Given the description of an element on the screen output the (x, y) to click on. 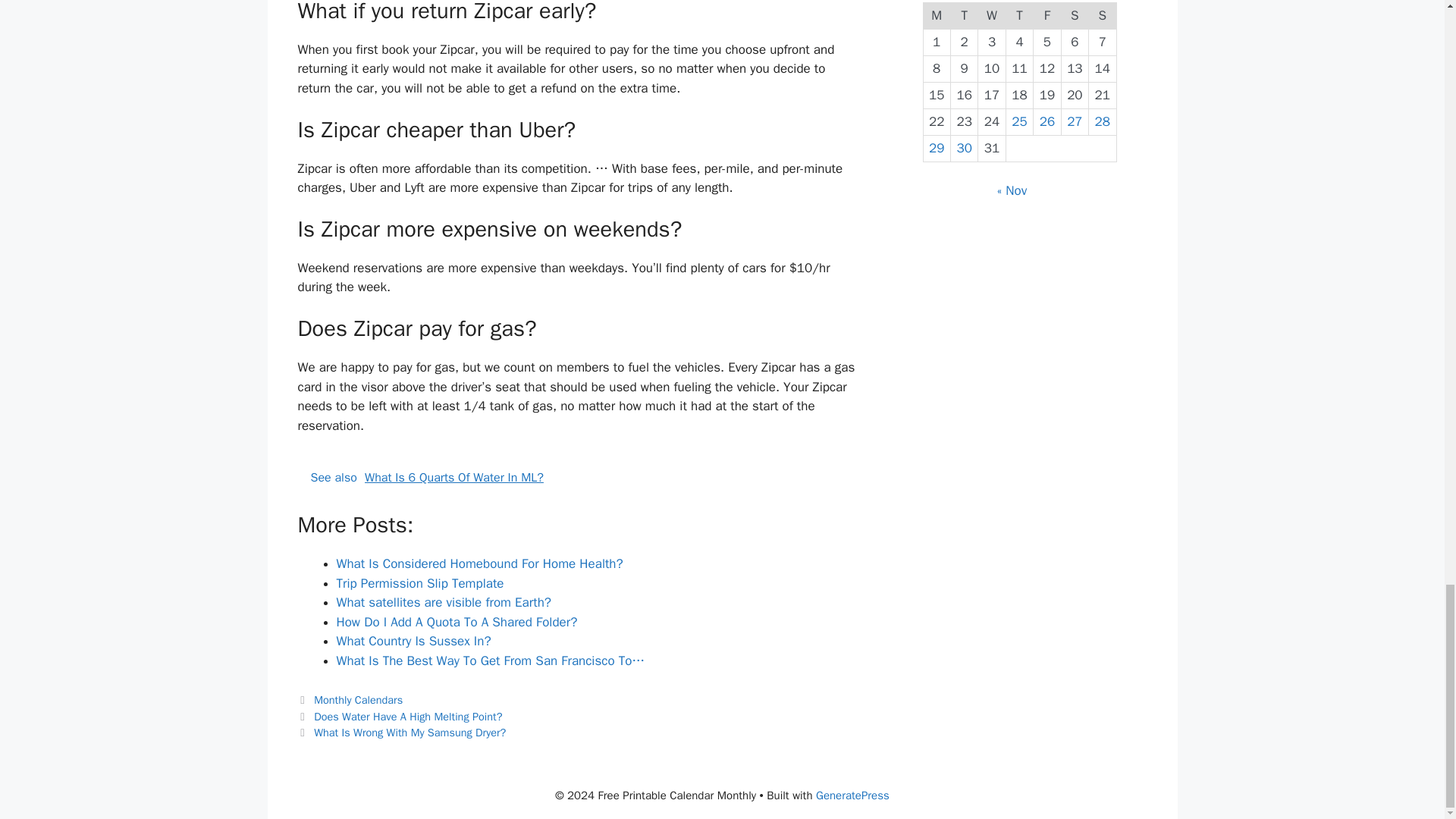
Trip Permission Slip Template (419, 583)
What Is Considered Homebound For Home Health? (479, 563)
Monday (936, 15)
See also  What Is 6 Quarts Of Water In ML? (579, 477)
